Given the description of an element on the screen output the (x, y) to click on. 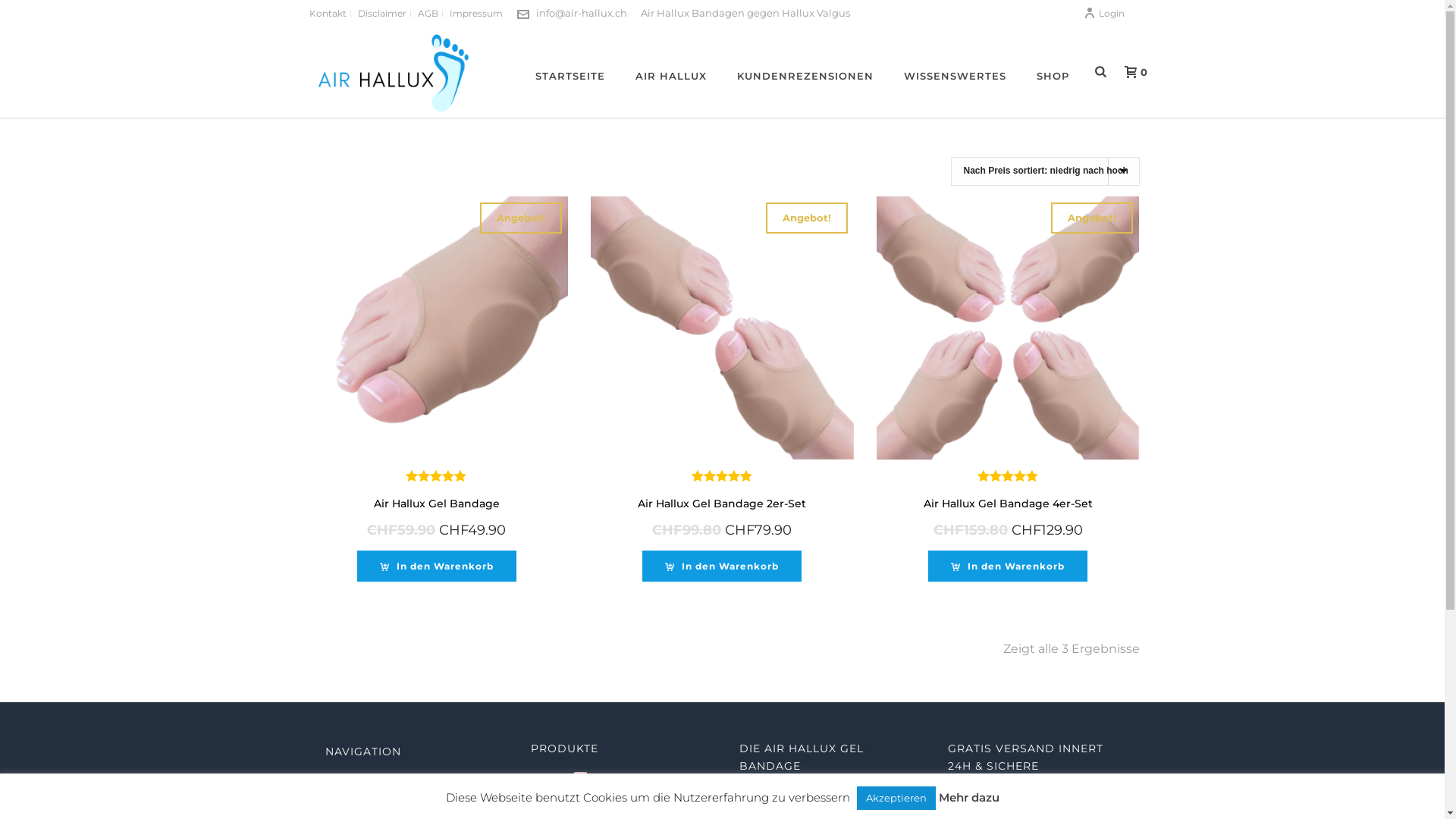
Akzeptieren Element type: text (895, 797)
info@air-hallux.ch Element type: text (580, 12)
Angebot!
Air Hallux Gel Bandage
CHF59.90 CHF49.90 Element type: text (435, 376)
Mehr dazu Element type: text (968, 797)
In den Warenkorb Element type: text (436, 565)
Rated 4.83 out of 5 Element type: hover (1007, 475)
Angebot!
Air Hallux Gel Bandage 4er-Set
CHF159.80 CHF129.90 Element type: text (1007, 376)
Angebot!
Air Hallux Gel Bandage 2er-Set
CHF99.80 CHF79.90 Element type: text (721, 376)
KUNDENREZENSIONEN Element type: text (804, 71)
Rated 4.82 out of 5 Element type: hover (722, 475)
In den Warenkorb Element type: text (1007, 565)
Air Hallux Gel Bandage Element type: text (618, 788)
Login Element type: text (1102, 12)
Impressum Element type: text (475, 13)
0 Element type: text (1131, 71)
Hallux Bandagen gegen Hallux Valgus Element type: hover (390, 71)
SHOP Element type: text (1052, 71)
STARTSEITE Element type: text (570, 71)
Rated 4.80 out of 5 Element type: hover (436, 475)
AIR HALLUX Element type: text (670, 71)
WISSENSWERTES Element type: text (954, 71)
In den Warenkorb Element type: text (721, 565)
Disclaimer Element type: text (381, 13)
Startseite Element type: text (362, 784)
Kontakt Element type: text (327, 13)
AGB Element type: text (428, 13)
